Given the description of an element on the screen output the (x, y) to click on. 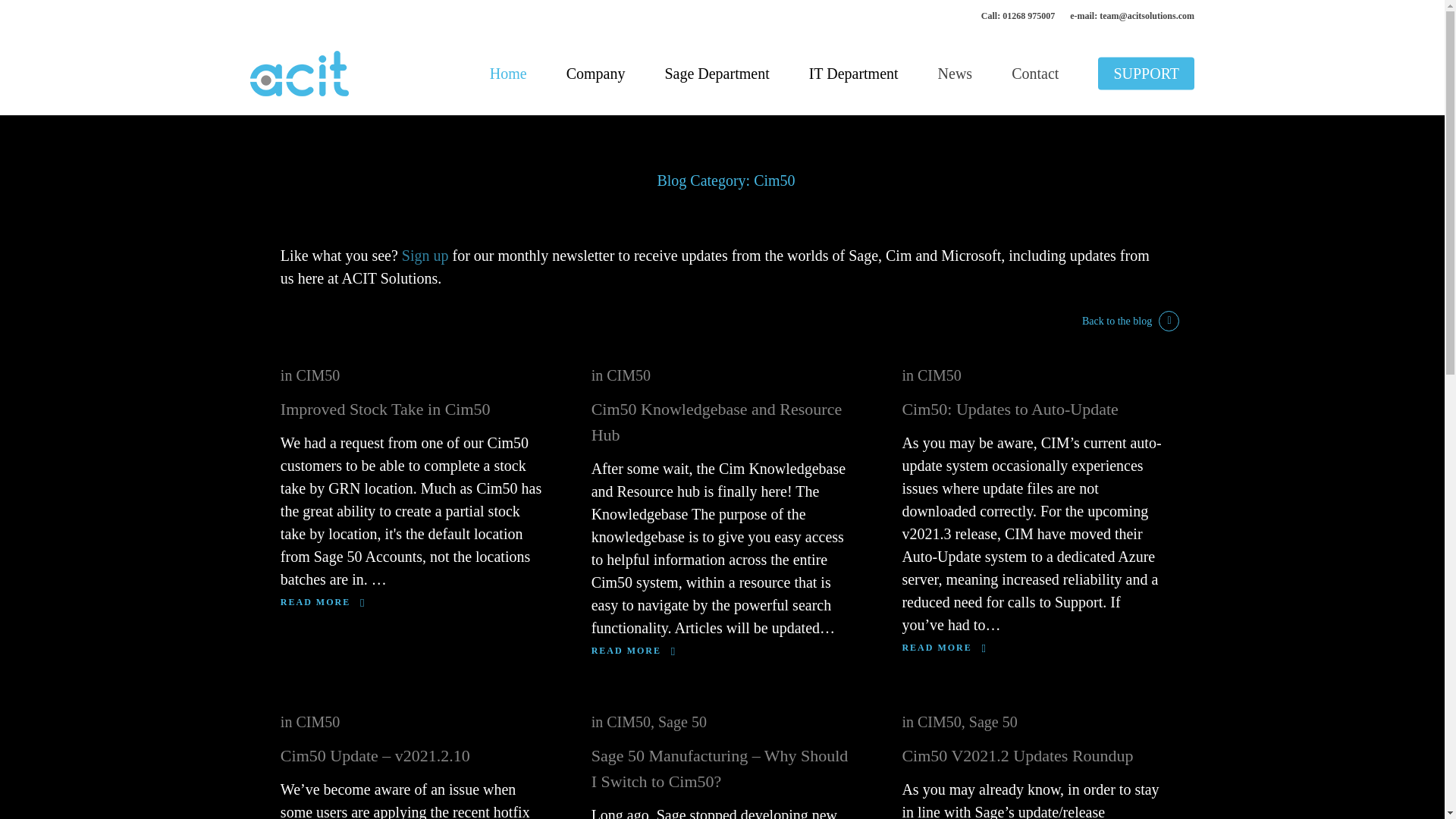
IT Department (853, 73)
Sage Department (717, 73)
CIM50 (317, 721)
Home (508, 73)
Company (596, 73)
Call: 01268 975007 (1017, 15)
Back to the blog (1130, 321)
CIM50 (317, 375)
Contact (1034, 73)
News (955, 73)
